Given the description of an element on the screen output the (x, y) to click on. 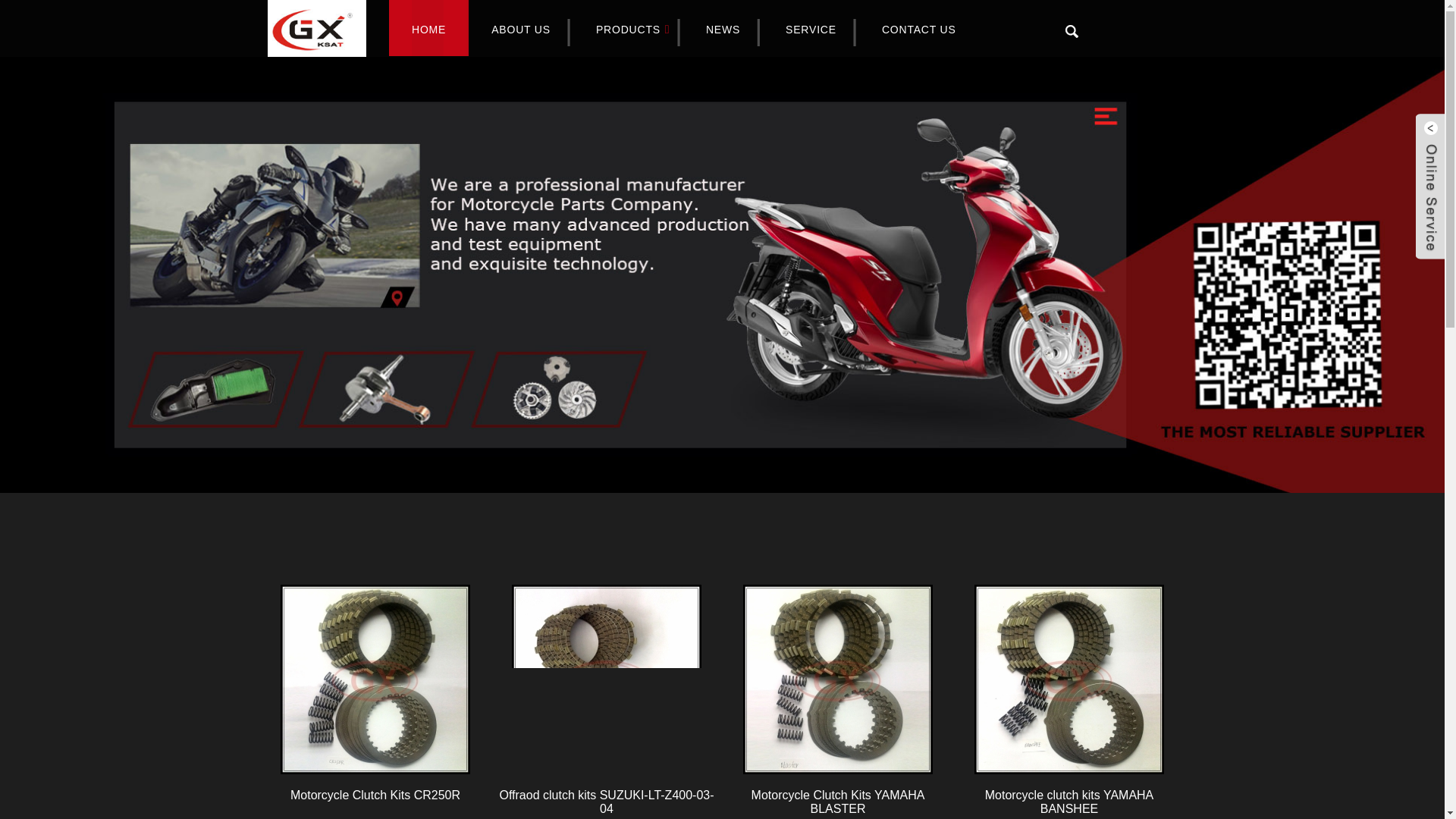
About Us (520, 30)
Products (627, 30)
HOME (428, 30)
ABOUT US (520, 30)
Home (428, 30)
PRODUCTS (627, 30)
